Given the description of an element on the screen output the (x, y) to click on. 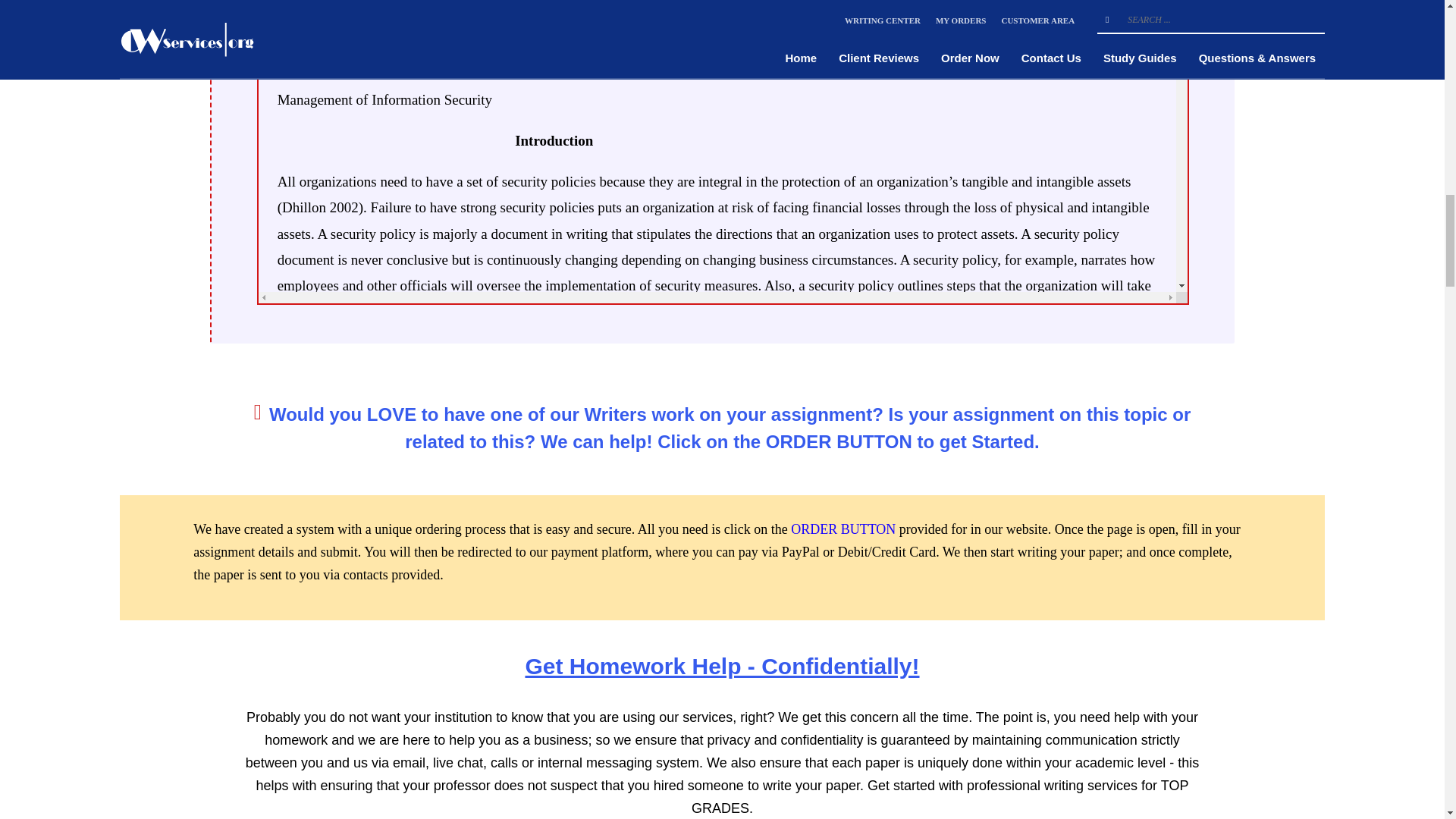
ORDER BUTTON (842, 529)
